Given the description of an element on the screen output the (x, y) to click on. 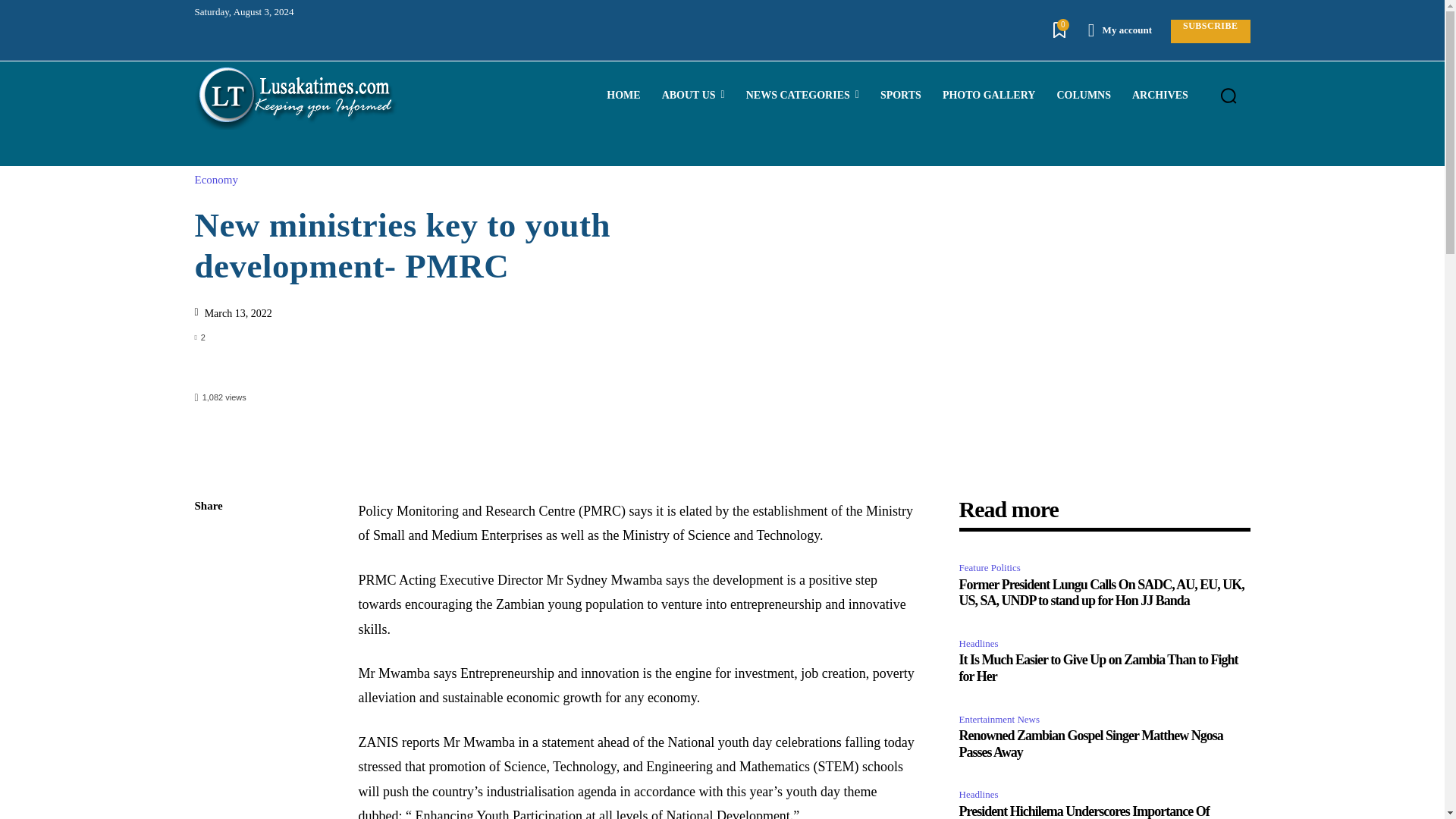
Lusaka Times (295, 95)
Subscribe (1210, 31)
SUBSCRIBE (1210, 31)
